Given the description of an element on the screen output the (x, y) to click on. 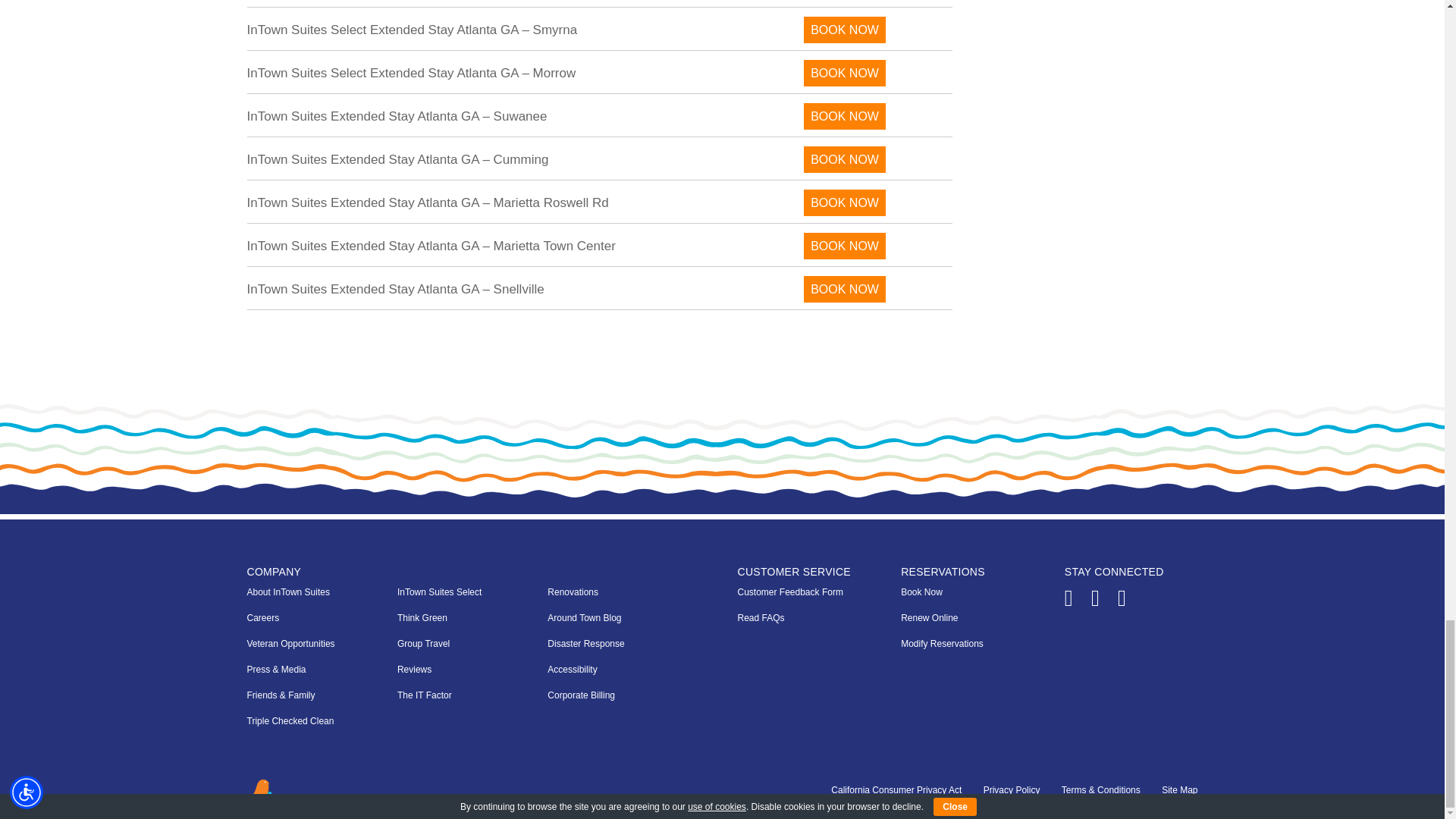
Return to Homepage (266, 800)
